Given the description of an element on the screen output the (x, y) to click on. 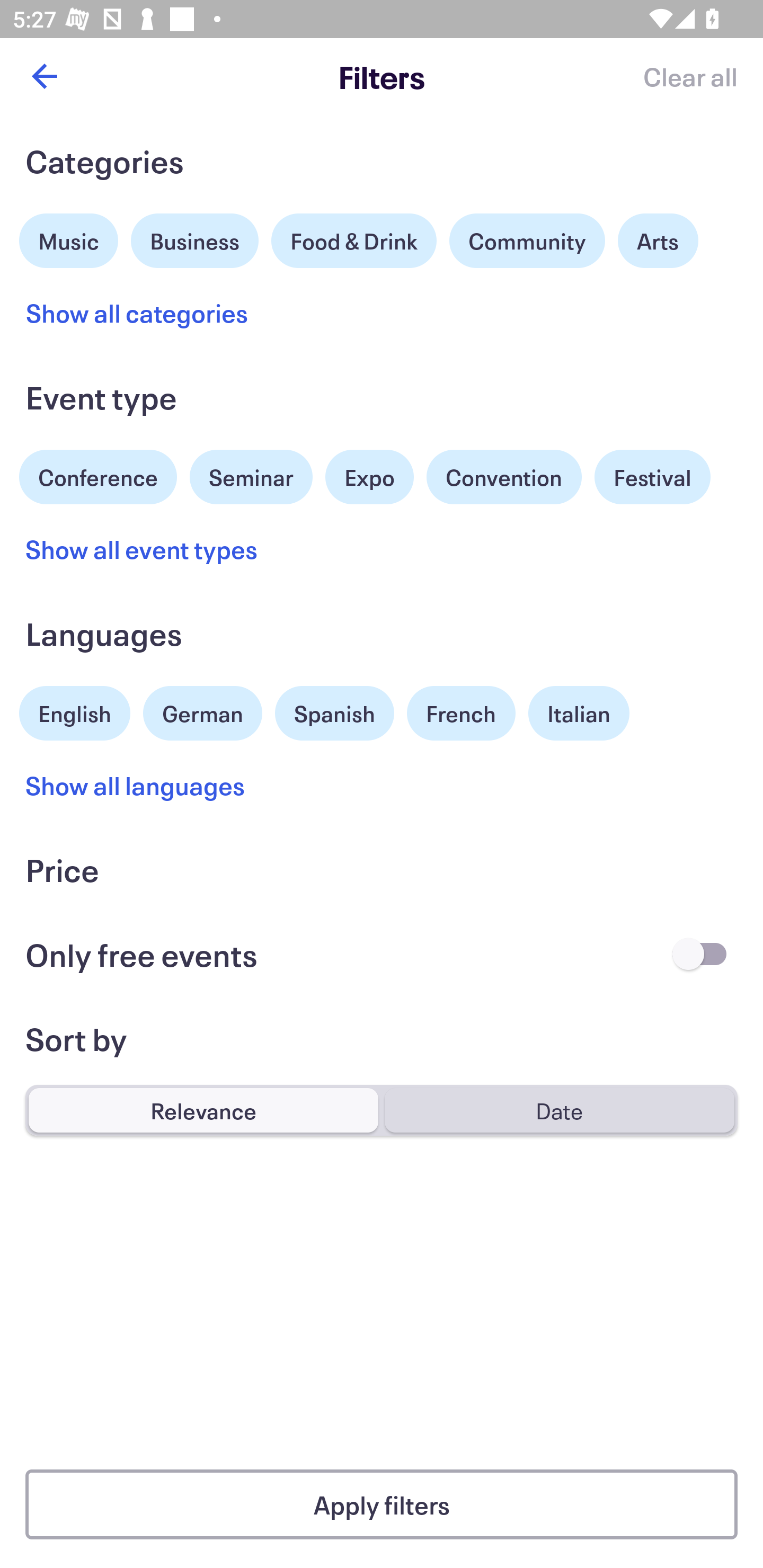
Back button (44, 75)
Clear all (690, 75)
Music (68, 238)
Business (194, 238)
Food & Drink (353, 240)
Community (527, 240)
Arts (658, 240)
Show all categories (136, 312)
Conference (98, 475)
Seminar (250, 477)
Expo (369, 477)
Convention (503, 477)
Festival (652, 477)
Show all event types (141, 548)
English (74, 710)
German (202, 710)
Spanish (334, 713)
French (460, 713)
Italian (578, 713)
Show all languages (135, 784)
Relevance (203, 1109)
Date (559, 1109)
Apply filters (381, 1504)
